Given the description of an element on the screen output the (x, y) to click on. 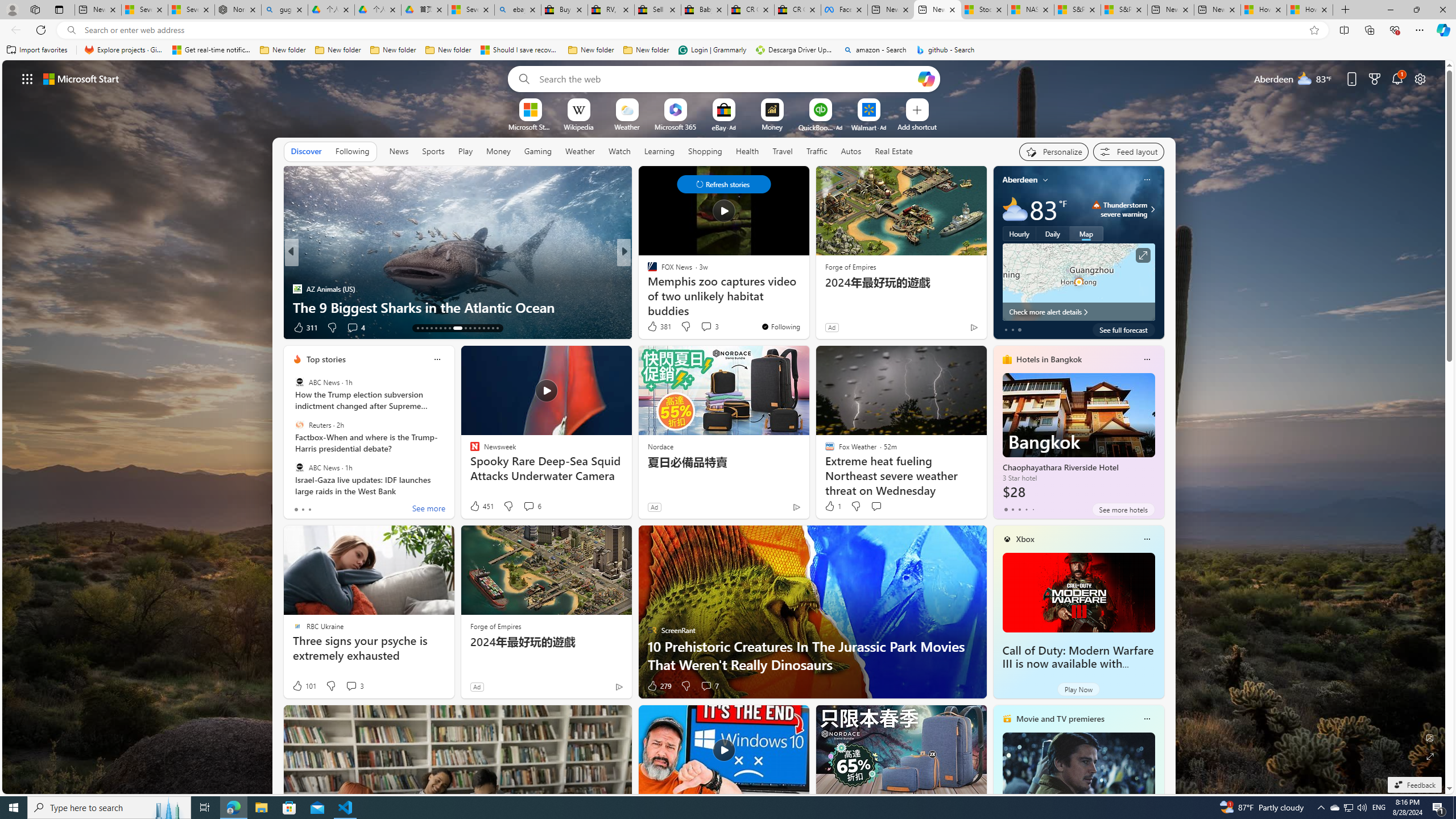
App bar (728, 29)
Forgiveness Is a Journey to Emotional Freedom (807, 307)
Autos (851, 151)
Microsoft Start Sports (529, 126)
CNN Money (647, 270)
Map (1085, 233)
Descarga Driver Updater (794, 49)
Mostly cloudy (1014, 208)
Search (520, 78)
Class: weather-arrow-glyph (1152, 208)
Gaming (537, 151)
Browser essentials (1394, 29)
101 Like (303, 685)
